Given the description of an element on the screen output the (x, y) to click on. 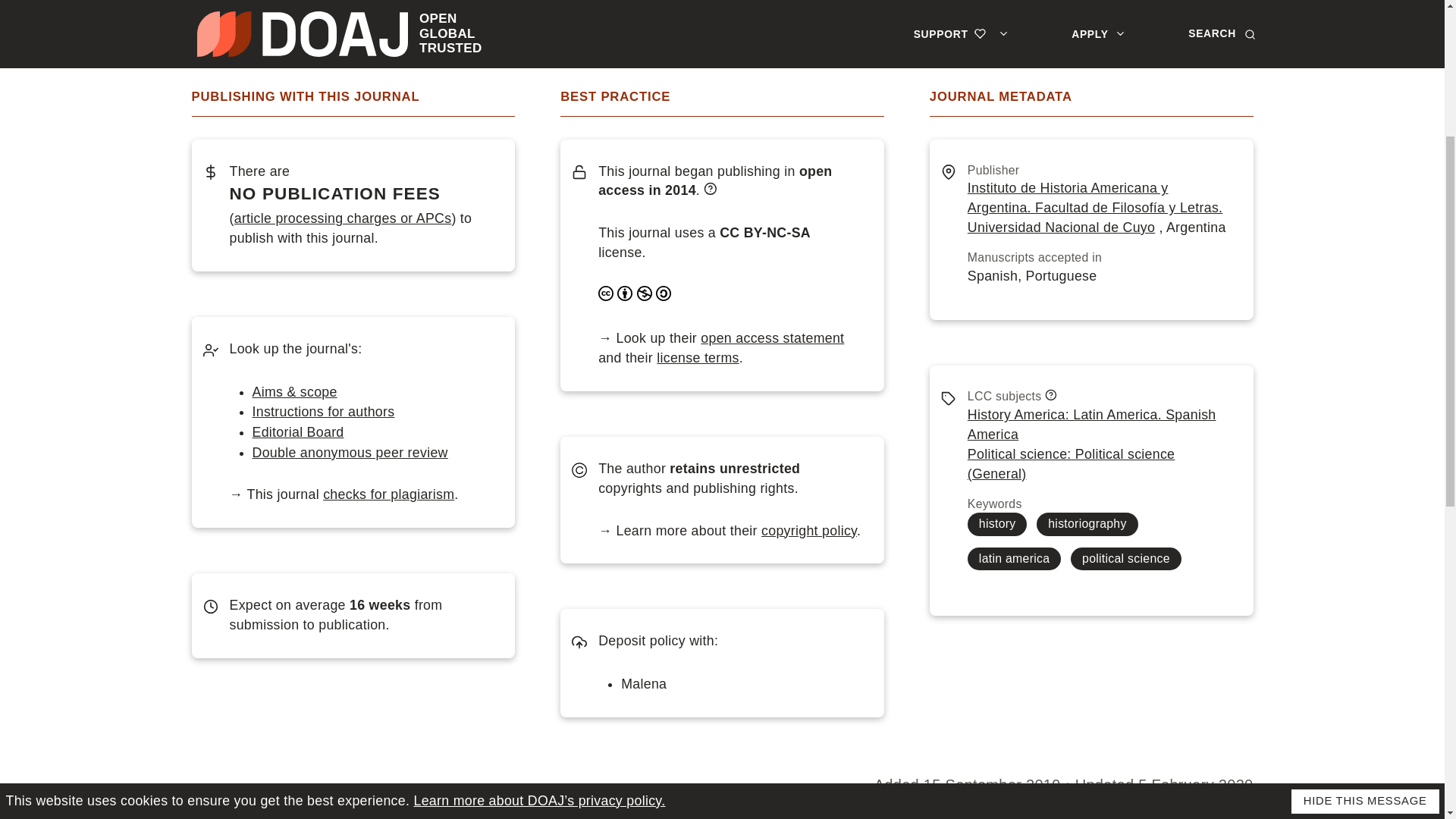
HIDE THIS MESSAGE (1365, 524)
